Given the description of an element on the screen output the (x, y) to click on. 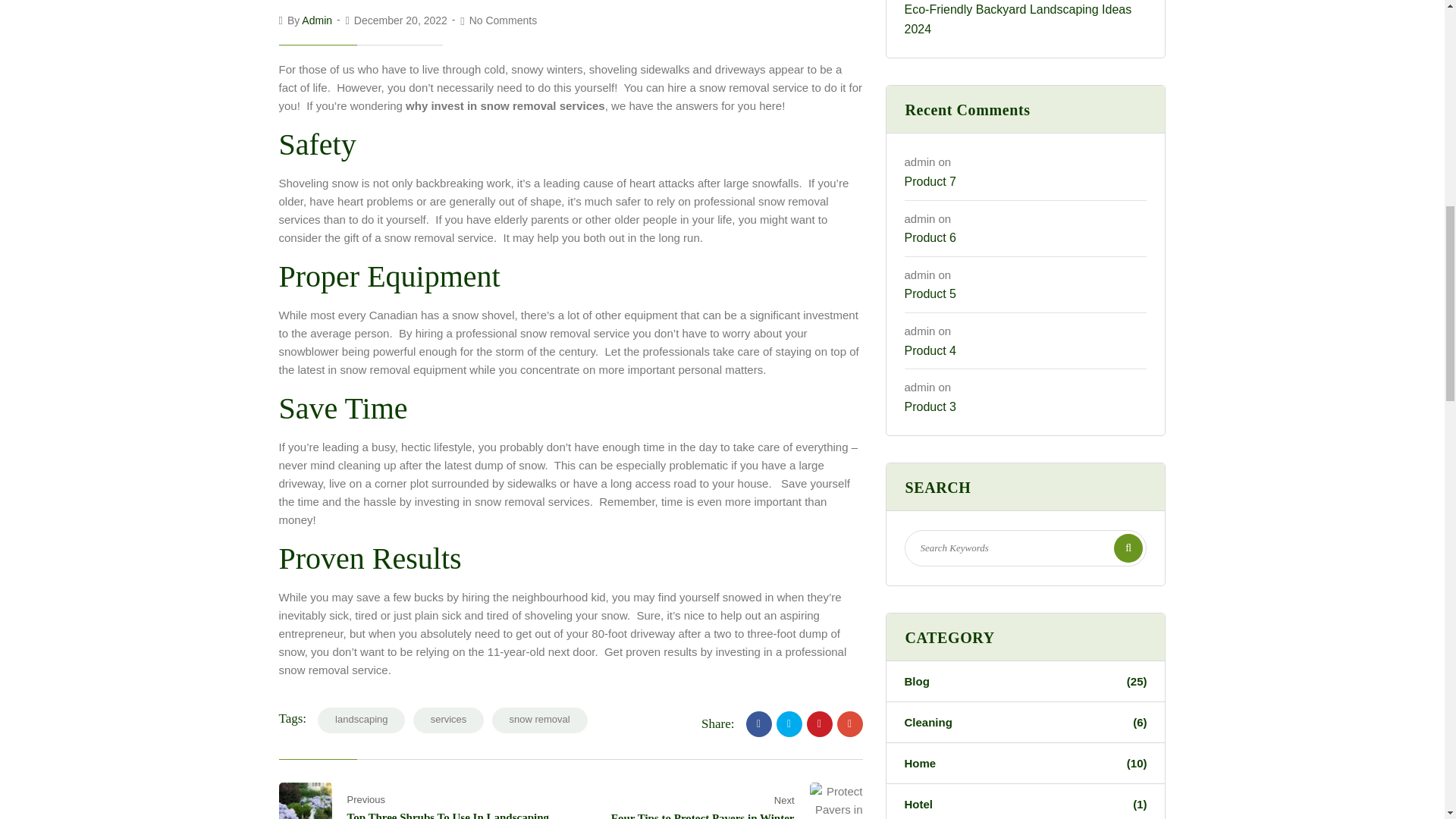
Facebook (758, 724)
Posts by admin (316, 20)
landscaping (360, 720)
more important (763, 501)
No Comments (502, 20)
Pinterest (819, 724)
Admin (316, 20)
Twitter (789, 724)
Google Plus (850, 724)
hiring a professional (465, 332)
